Given the description of an element on the screen output the (x, y) to click on. 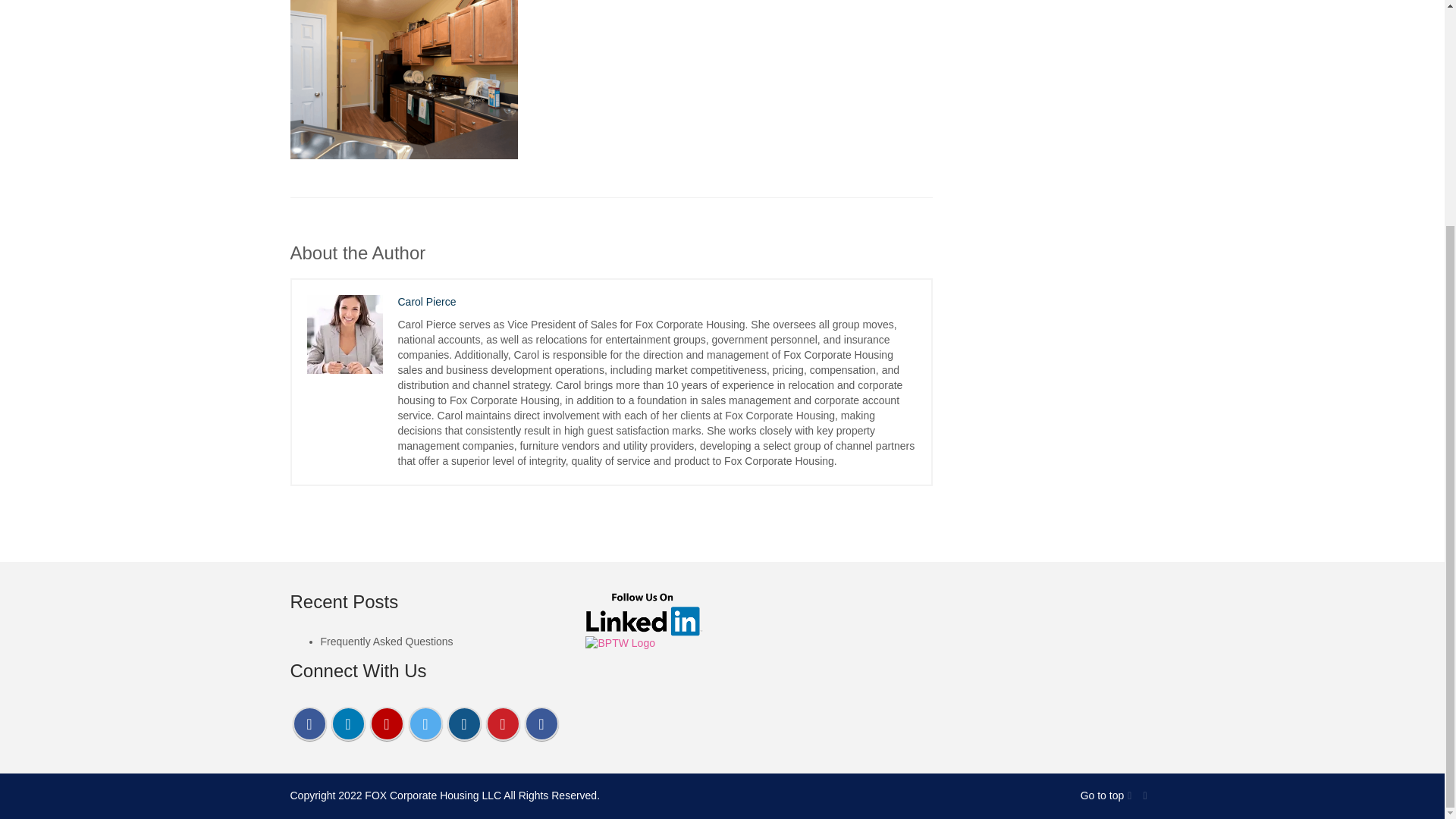
Facebook (1131, 795)
Frequently Asked Questions (386, 641)
Twitter (1146, 795)
